Given the description of an element on the screen output the (x, y) to click on. 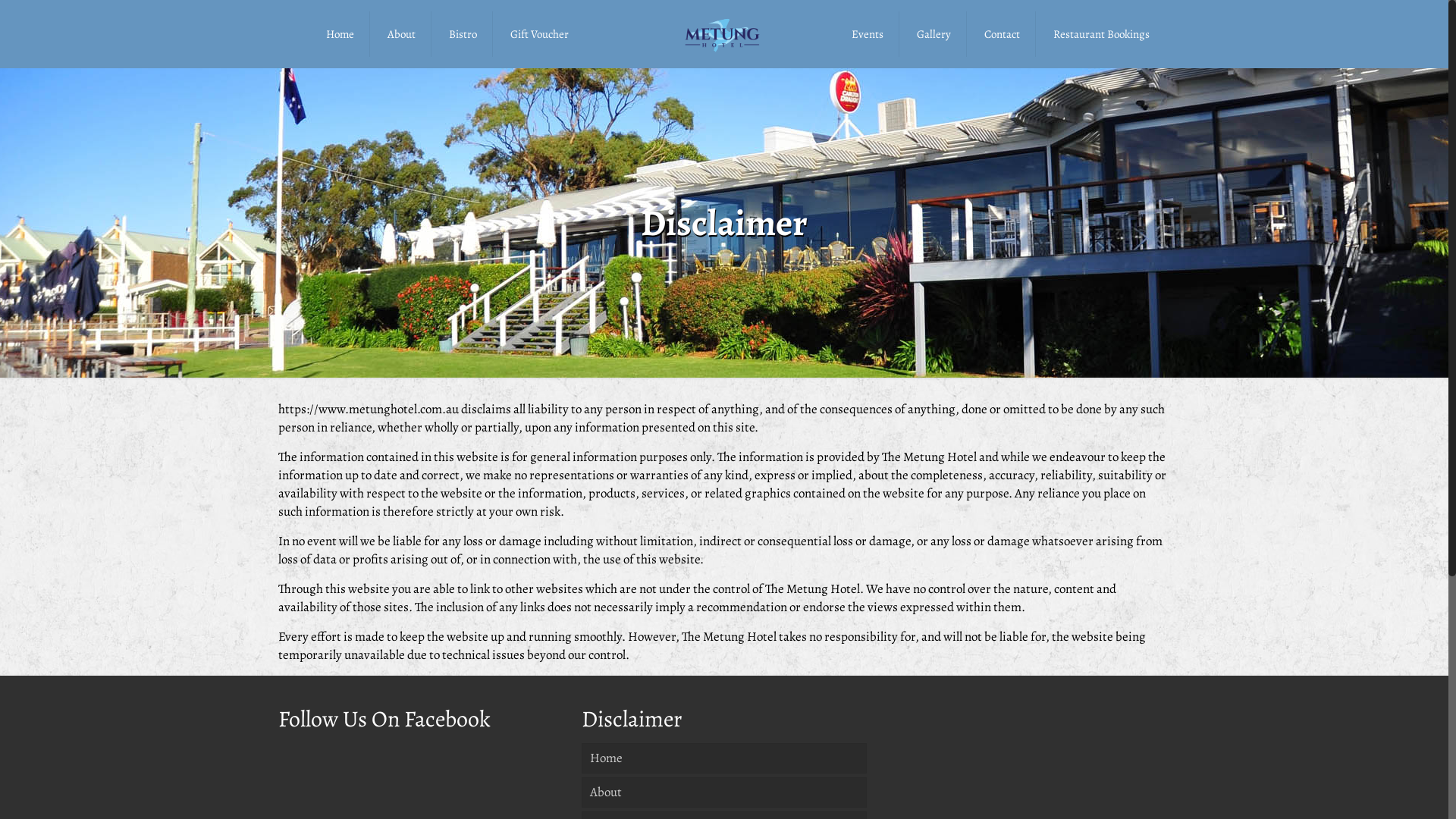
Bistro Element type: text (462, 34)
About Element type: text (723, 792)
Metung Hotel Element type: hover (724, 34)
Contact Element type: text (1002, 34)
Gift Voucher Element type: text (539, 34)
Home Element type: text (723, 758)
Events Element type: text (867, 34)
Gallery Element type: text (933, 34)
Restaurant Bookings Element type: text (1101, 34)
Home Element type: text (340, 34)
About Element type: text (401, 34)
